Given the description of an element on the screen output the (x, y) to click on. 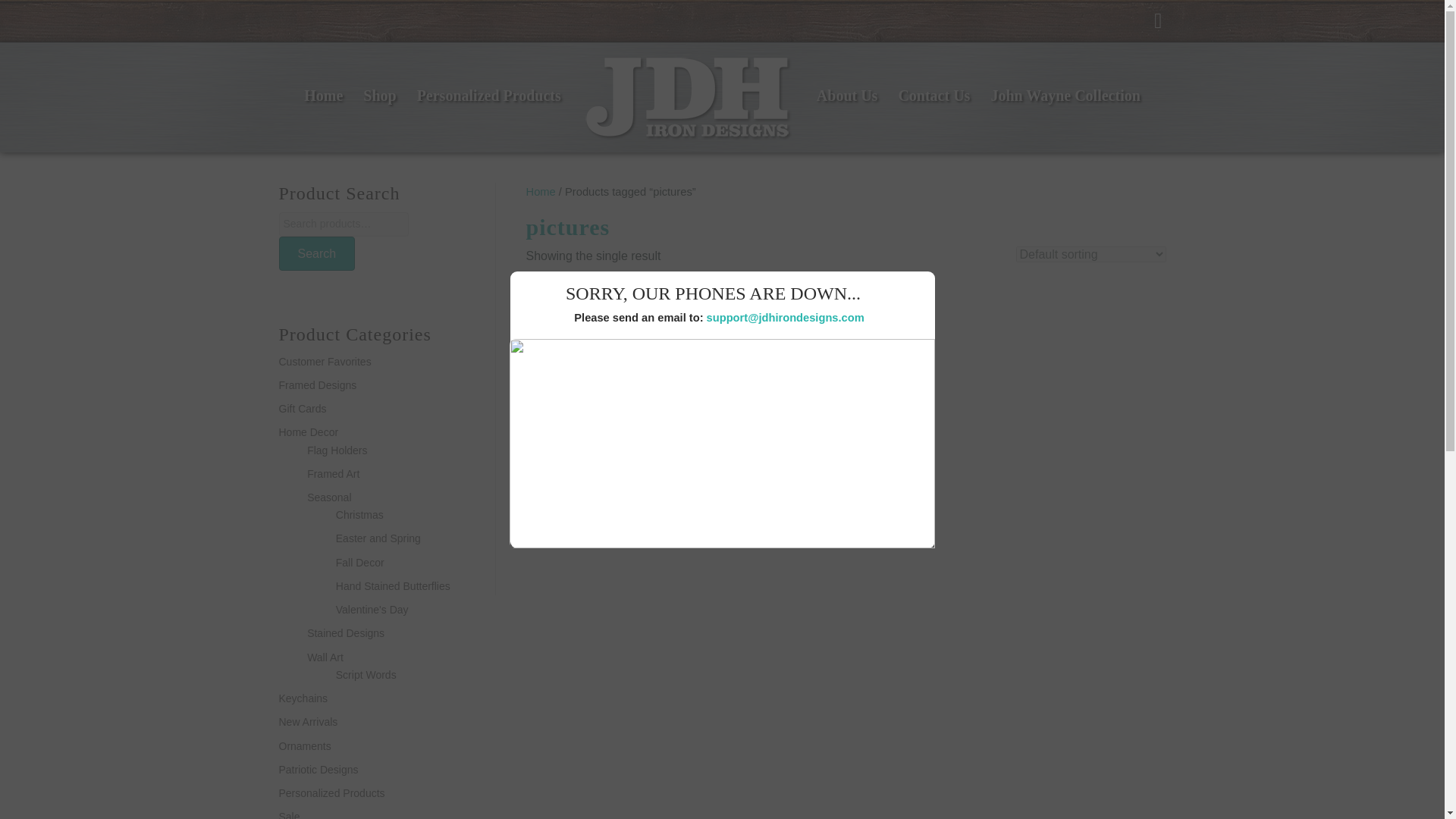
Seasonal (328, 497)
Fall Decor (360, 562)
Framed Art (333, 473)
Easter and Spring (378, 538)
Search (317, 253)
Select options (596, 534)
Personalized Products (489, 95)
John Wayne Collection (1064, 95)
Customer Favorites (325, 361)
Shop (379, 95)
Home (540, 191)
View your shopping cart (1160, 20)
Flag Holders (336, 450)
Hand Stained Butterflies (392, 585)
Home Decor (309, 431)
